Given the description of an element on the screen output the (x, y) to click on. 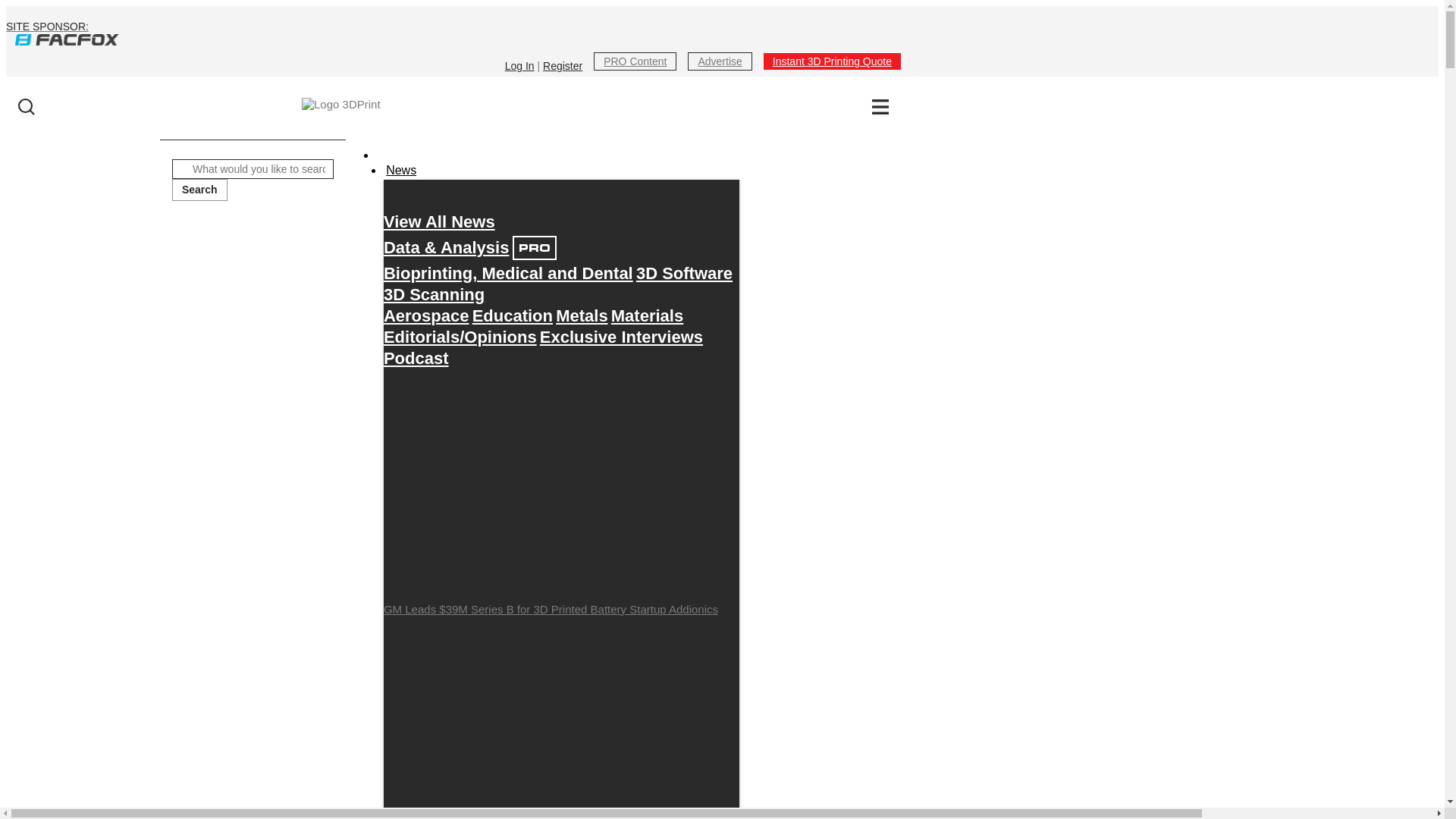
Search (199, 190)
Log In (519, 65)
Register (562, 65)
Instant 3D Printing Quote (831, 60)
Metals (581, 315)
3D Software (684, 273)
HP Uses NVIDIA AI to Speed up Metal 3D Printing (561, 721)
Aerospace (426, 315)
Materials (646, 315)
3D Scanning (434, 294)
Podcast (416, 358)
Advertise (719, 60)
Exclusive Interviews (621, 336)
View All News (439, 221)
SITE SPONSOR: (453, 32)
